Given the description of an element on the screen output the (x, y) to click on. 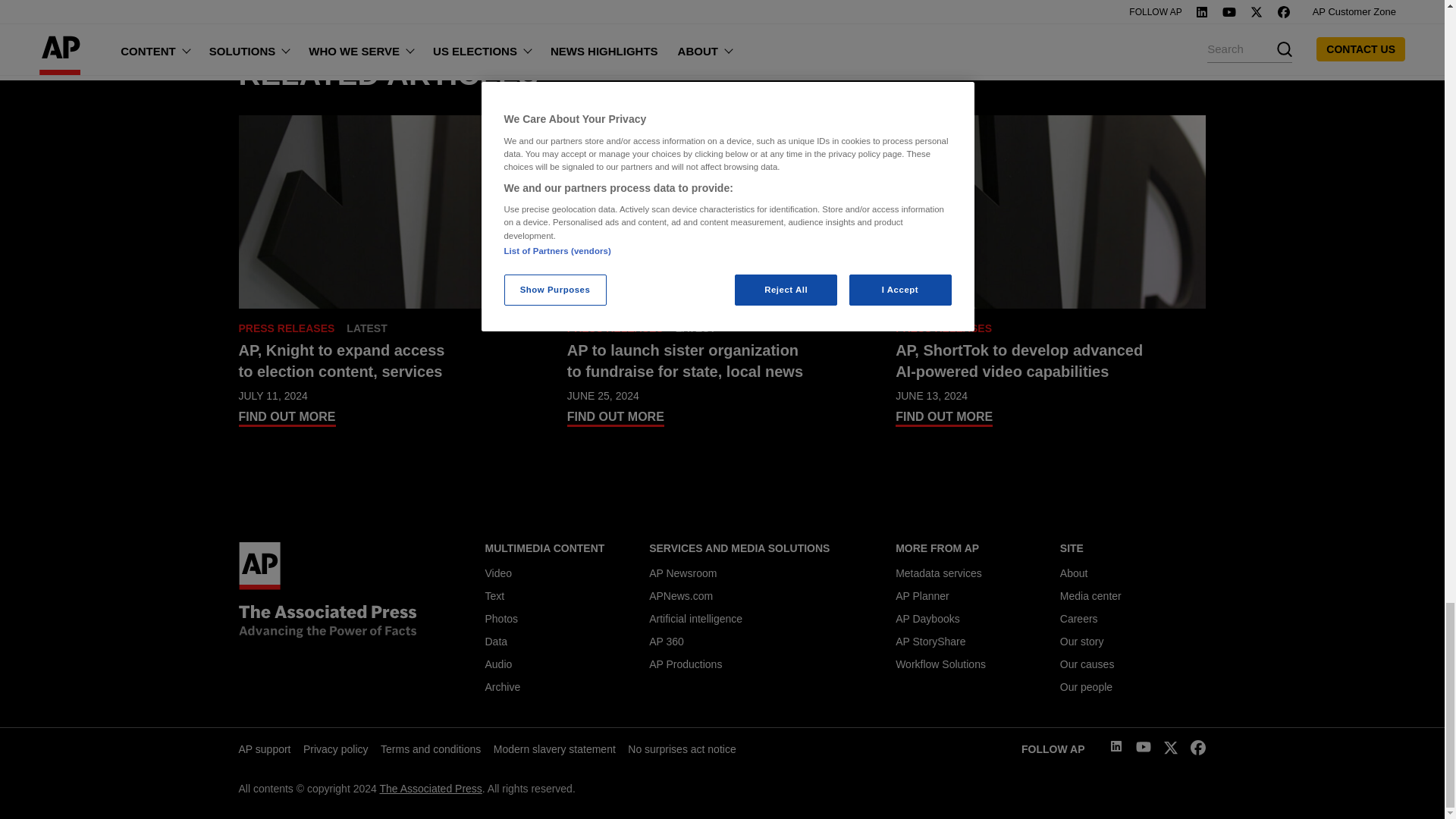
Facebook (1198, 750)
Linkedin (1116, 748)
Youtube (1143, 748)
Twitter (1170, 750)
